Given the description of an element on the screen output the (x, y) to click on. 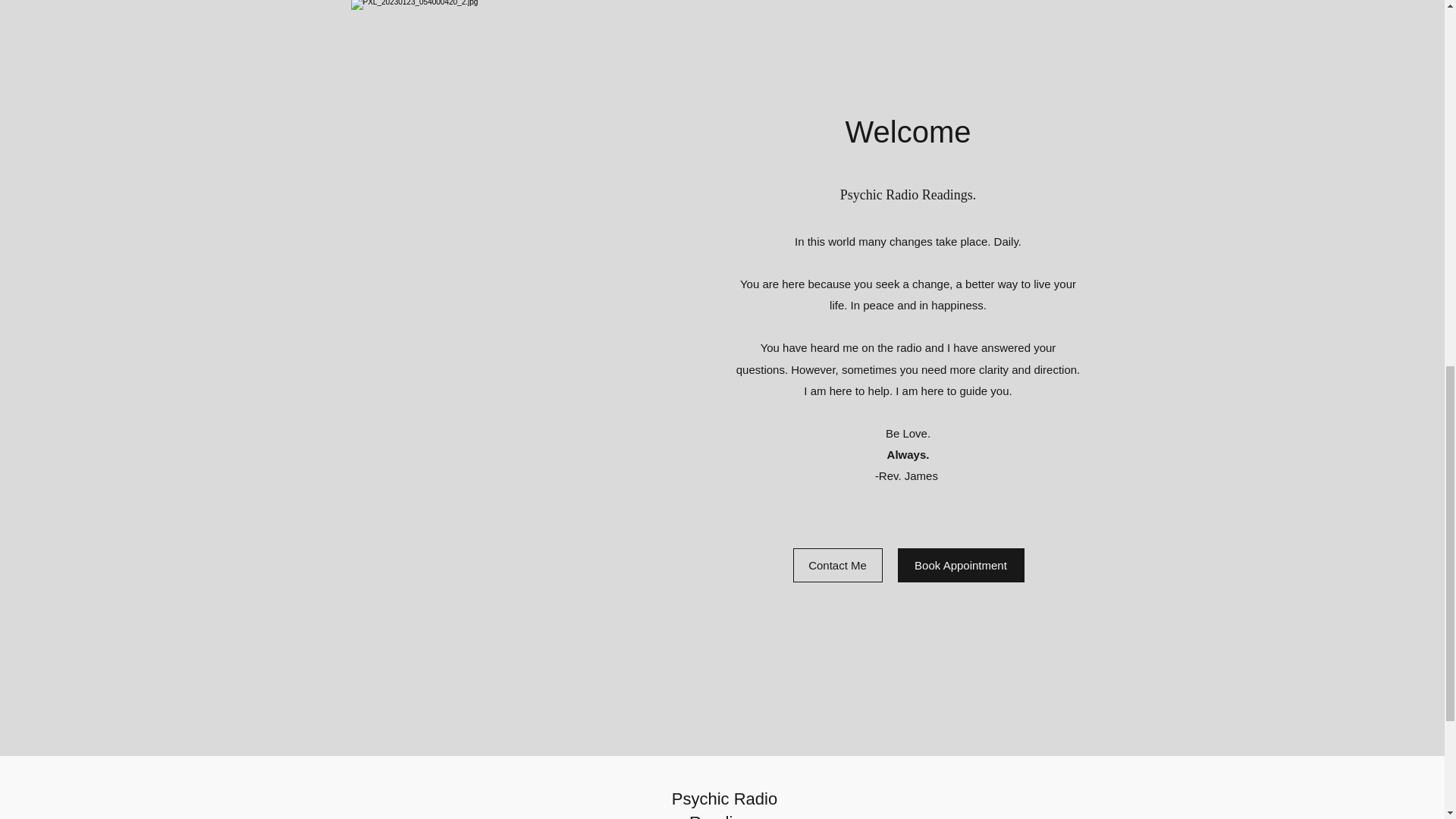
Contact Me (837, 564)
Psychic Radio Readings (724, 804)
Book Appointment (961, 564)
